Given the description of an element on the screen output the (x, y) to click on. 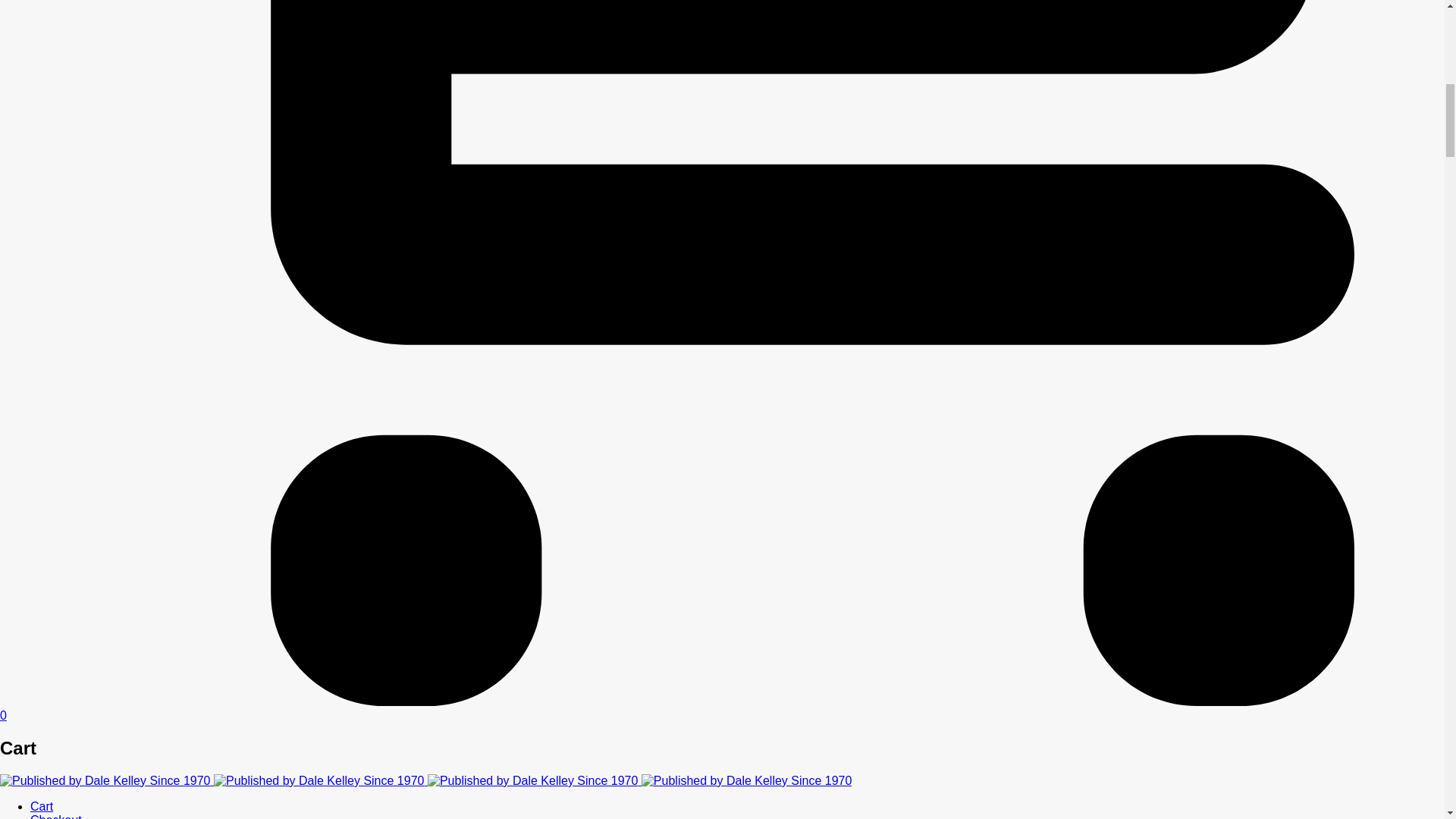
Cart (41, 806)
Checkout (55, 816)
Published by Dale Kelley Since 1970 (319, 780)
Antique Toy World Magazine (425, 780)
Checkout (55, 816)
Cart (41, 806)
Published by Dale Kelley Since 1970 (533, 780)
Published by Dale Kelley Since 1970 (746, 780)
Published by Dale Kelley Since 1970 (105, 780)
